Given the description of an element on the screen output the (x, y) to click on. 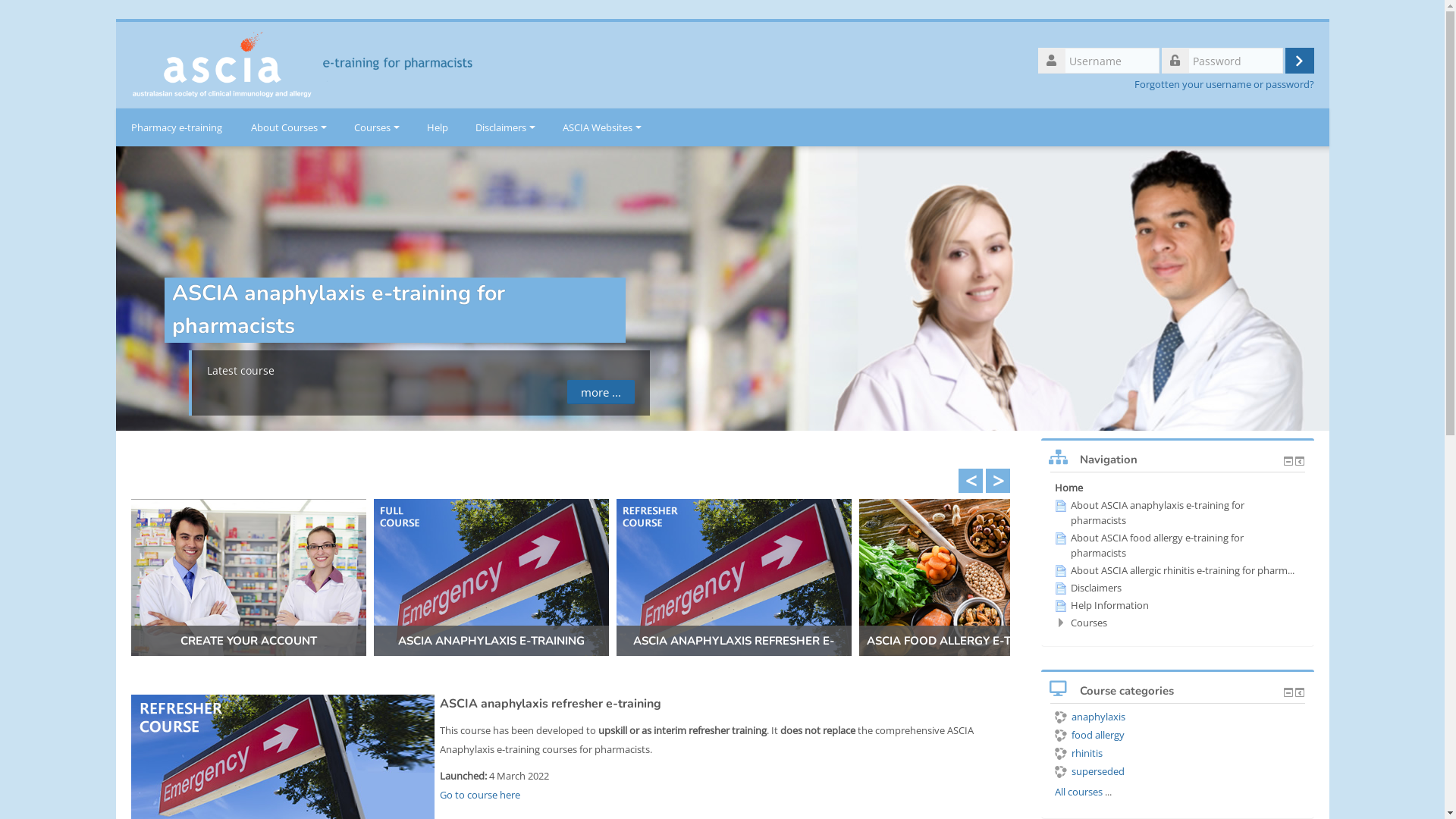
Page Element type: hover (1060, 538)
Disclaimers Element type: text (1087, 587)
Hide Navigation block Element type: hover (1287, 460)
food allergy Element type: text (1088, 734)
About ASCIA food allergy e-training for pharmacists Element type: text (1148, 544)
Course Element type: hover (1062, 753)
About Courses Element type: text (287, 127)
Dock Course categories block Element type: hover (1299, 691)
Forgotten your username or password? Element type: text (1224, 84)
Go to course here Element type: text (479, 794)
Courses Element type: text (375, 127)
Log in Element type: text (1298, 60)
< Element type: text (970, 480)
Hide Course categories block Element type: hover (1287, 691)
Help Information Element type: text (1101, 604)
ASCIA Websites Element type: text (602, 127)
more ... Element type: text (600, 391)
About ASCIA anaphylaxis e-training for pharmacists Element type: text (1148, 512)
Course Element type: hover (1062, 717)
anaphylaxis Element type: text (1089, 716)
Course Element type: hover (1062, 771)
Page Element type: hover (1060, 570)
Help Element type: text (436, 127)
Disclaimers Element type: text (504, 127)
> Element type: text (997, 480)
Page Element type: hover (1060, 505)
Home Element type: text (1068, 487)
Home Element type: hover (317, 63)
Dock Navigation block Element type: hover (1299, 460)
Page Element type: hover (1060, 605)
About ASCIA allergic rhinitis e-training for pharm... Element type: text (1173, 570)
All courses Element type: text (1077, 791)
Course Element type: hover (1062, 735)
Pharmacy e-training Element type: text (175, 127)
Courses Element type: text (1088, 622)
rhinitis Element type: text (1077, 752)
superseded Element type: text (1088, 771)
Page Element type: hover (1060, 588)
